Given the description of an element on the screen output the (x, y) to click on. 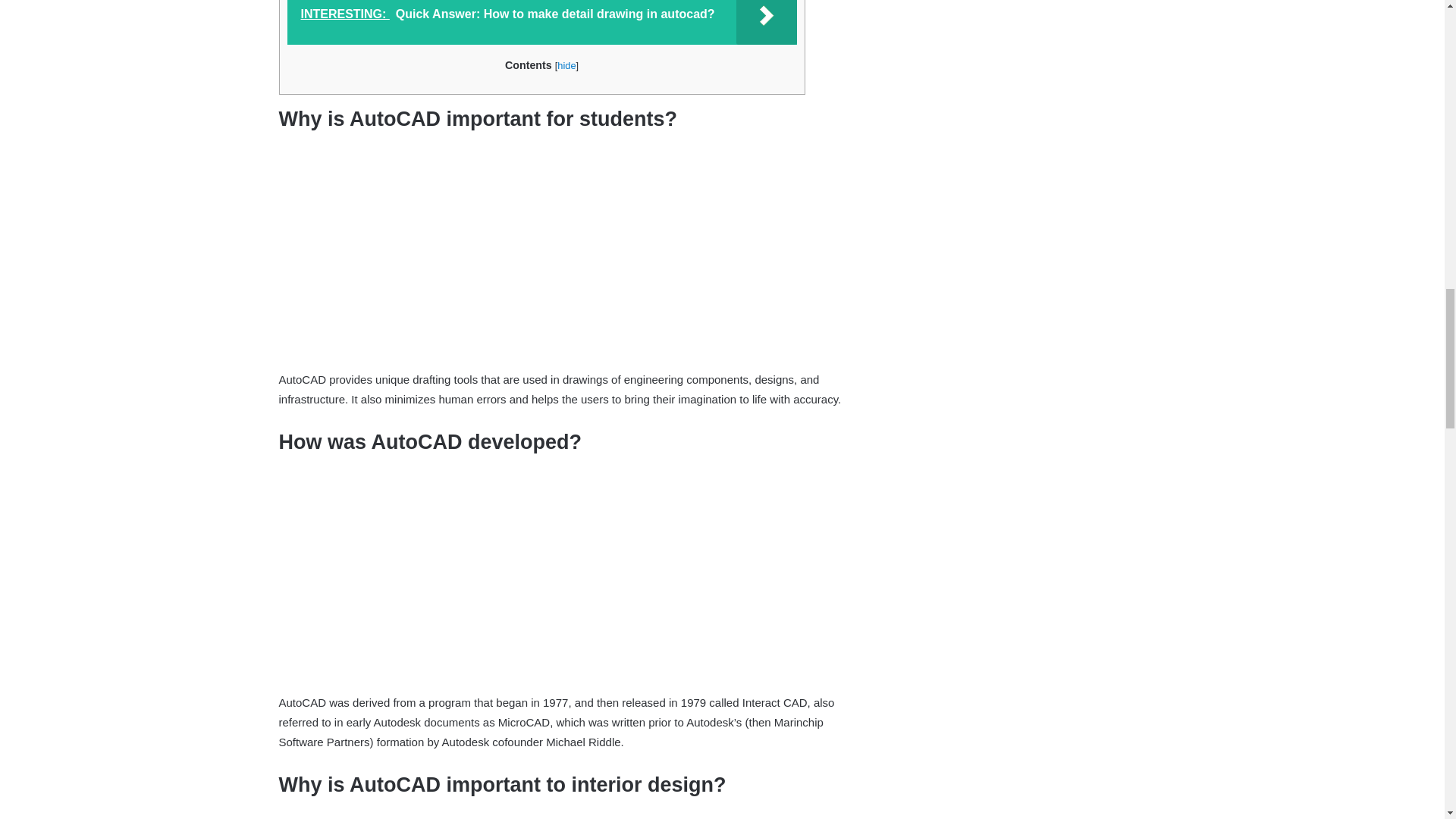
Advertisement (574, 581)
hide (566, 65)
Advertisement (574, 259)
